Given the description of an element on the screen output the (x, y) to click on. 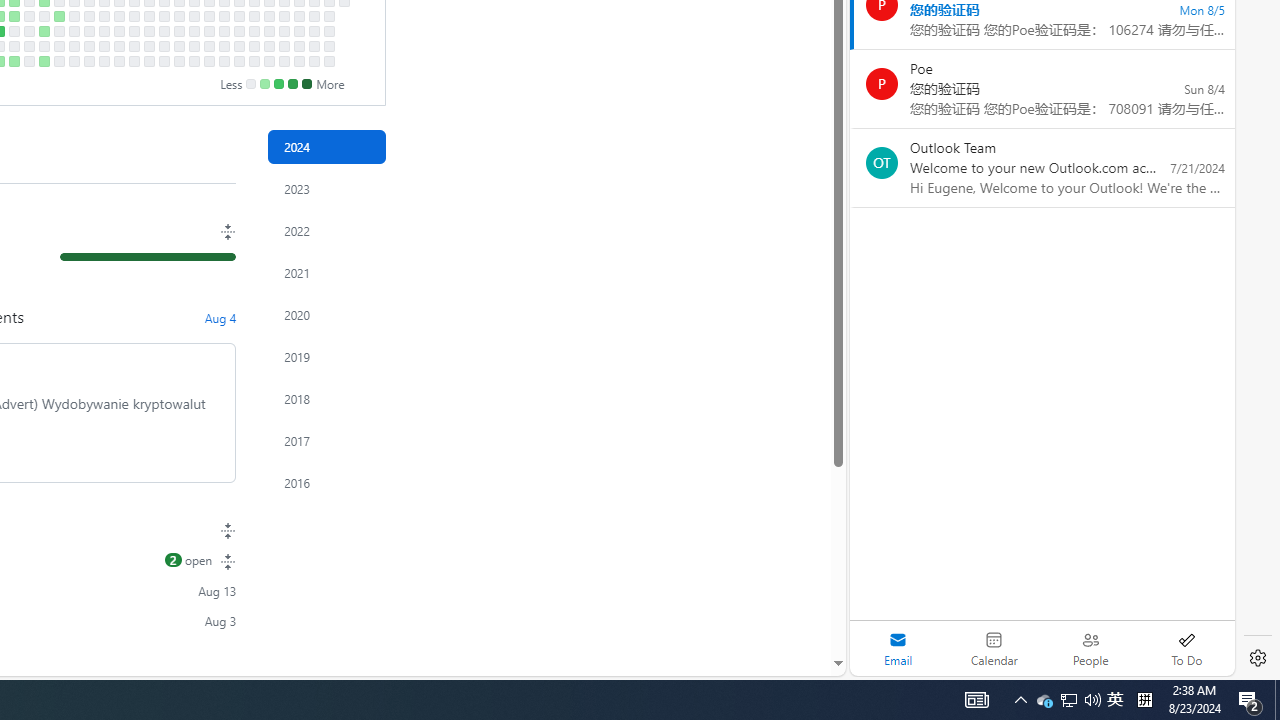
People (1090, 648)
No contributions on October 30th. (209, 16)
No contributions on September 19th. (118, 30)
No contributions on September 5th. (88, 30)
To Do (1186, 648)
2017 (326, 440)
Calendar. Date today is 22 (994, 648)
Contribution activity in 2023 (326, 188)
No contributions on November 7th. (223, 30)
1 contribution on August 15th. (43, 30)
2021 (326, 273)
1 contribution on August 17th. (43, 61)
No contributions on September 21st. (118, 61)
No contributions on October 17th. (178, 30)
